Given the description of an element on the screen output the (x, y) to click on. 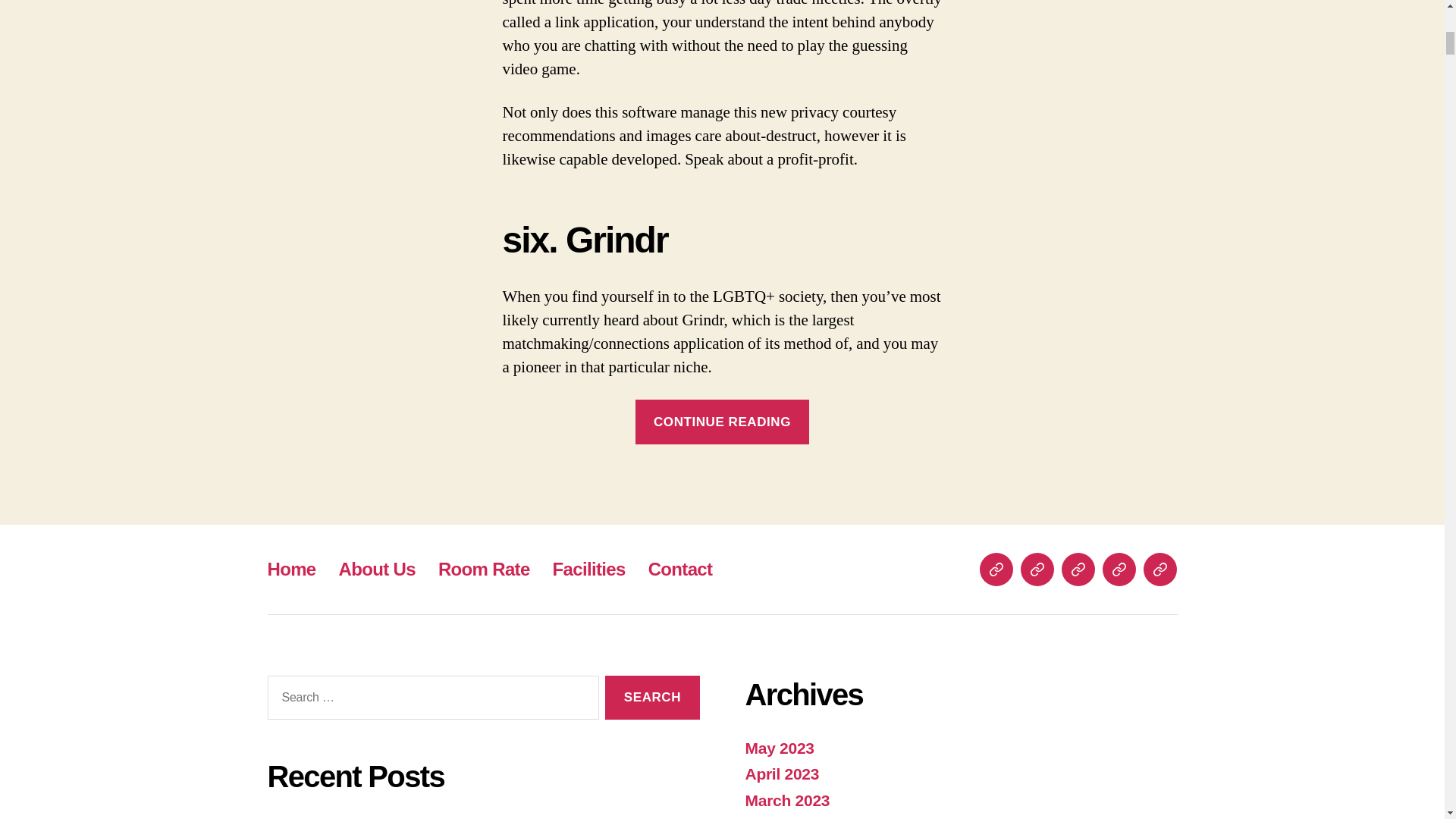
Home (290, 568)
Search (651, 697)
About Us (376, 568)
Facilities (589, 568)
Contact (680, 568)
Search (651, 697)
Room Rate (483, 568)
